Given the description of an element on the screen output the (x, y) to click on. 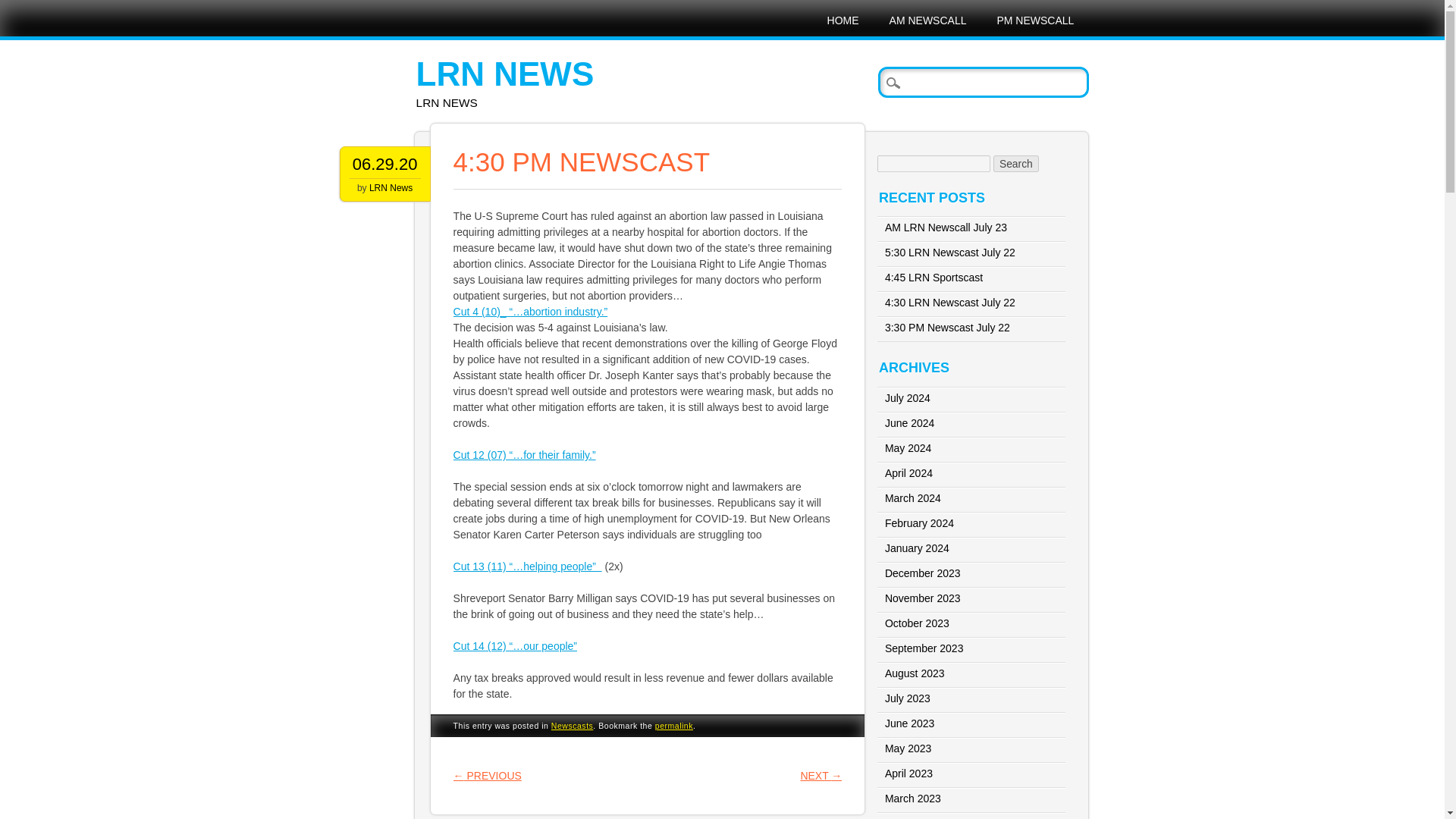
September 2023 (924, 648)
06.29.20 (384, 163)
5:30 LRN Newscast July 22 (949, 252)
LRN NEWS (505, 73)
PM NEWSCALL (1035, 20)
Newscasts (572, 725)
3:30 PM Newscast July 22 (947, 327)
Search (1015, 163)
April 2024 (909, 472)
LRN News (505, 73)
April 2023 (909, 773)
permalink (674, 725)
View all posts by LRN News (390, 187)
View all posts in Newscasts (572, 725)
May 2023 (908, 748)
